Given the description of an element on the screen output the (x, y) to click on. 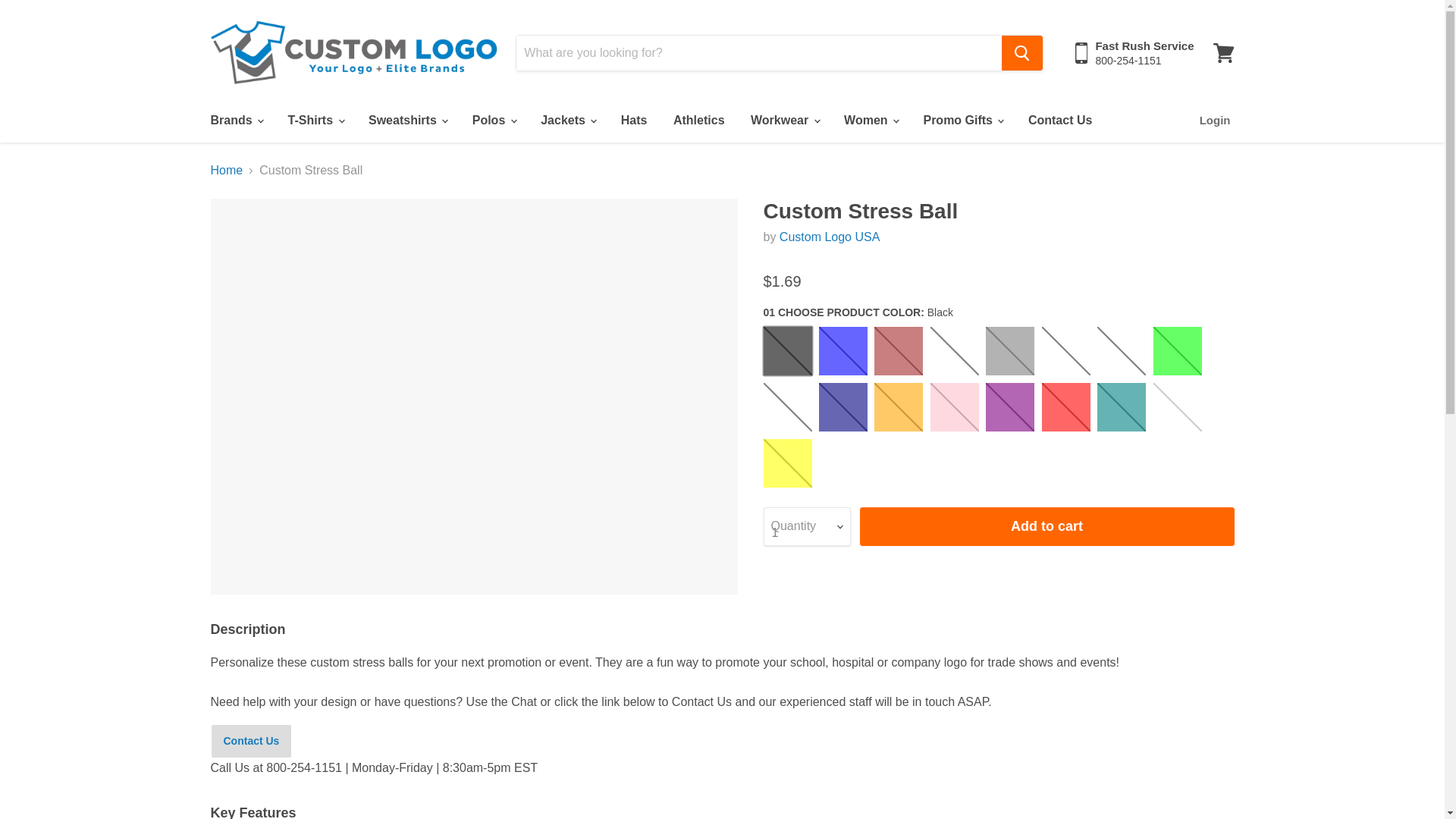
Hats (634, 120)
Polos (493, 120)
View cart (1223, 53)
Jackets (567, 120)
Brands (235, 120)
Custom Logo USA (829, 236)
Contact Us about this Custom Stress Ball (251, 740)
Sweatshirts (406, 120)
T-Shirts (314, 120)
